Given the description of an element on the screen output the (x, y) to click on. 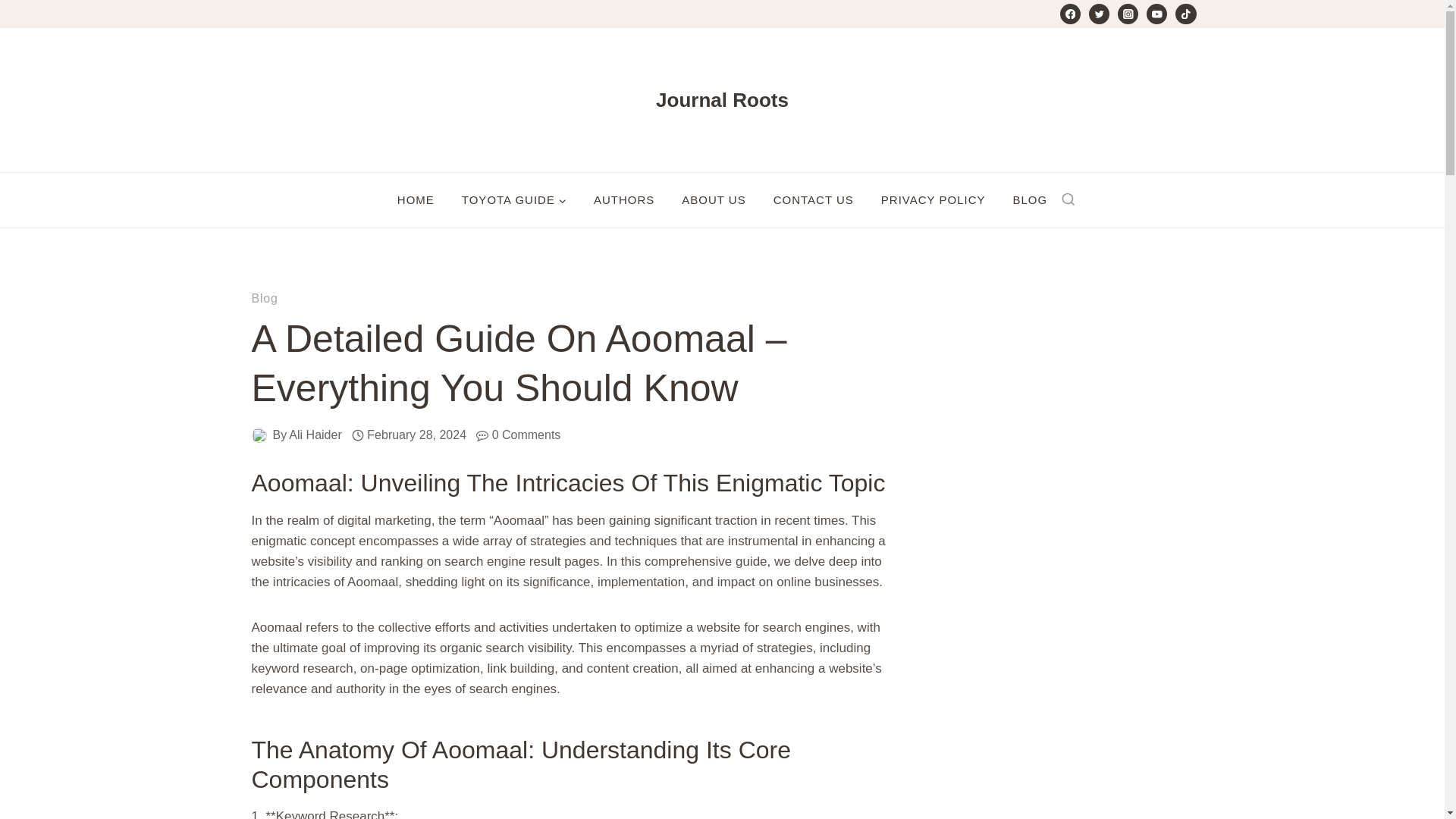
Blog (264, 297)
Journal Roots (722, 100)
0 Comments (526, 435)
TOYOTA GUIDE (513, 200)
0 Comments (526, 435)
Ali Haider (314, 434)
CONTACT US (813, 200)
PRIVACY POLICY (932, 200)
ABOUT US (713, 200)
